Given the description of an element on the screen output the (x, y) to click on. 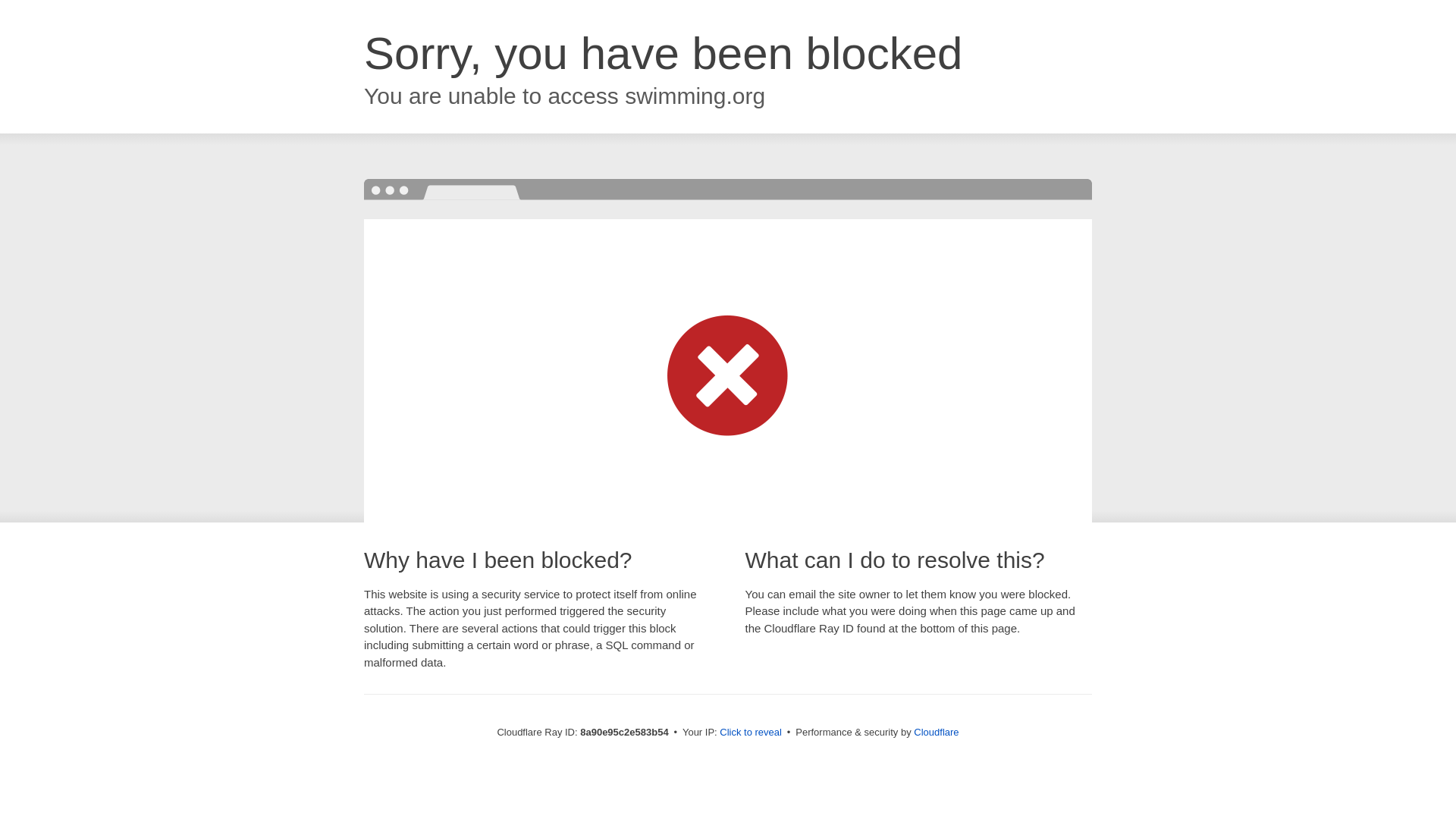
Cloudflare (936, 731)
Click to reveal (750, 732)
